Given the description of an element on the screen output the (x, y) to click on. 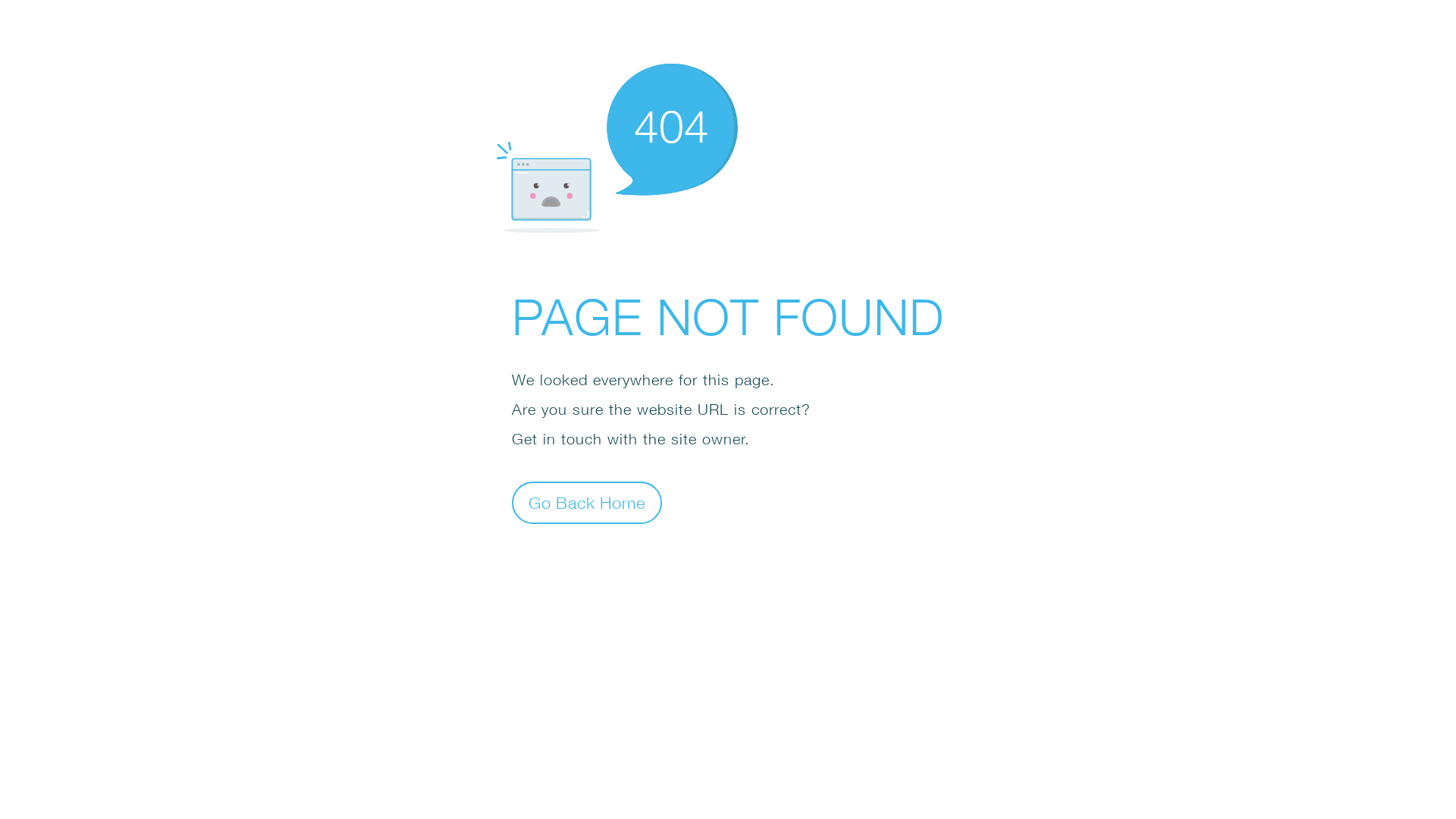
Go Back Home Element type: text (586, 502)
